Given the description of an element on the screen output the (x, y) to click on. 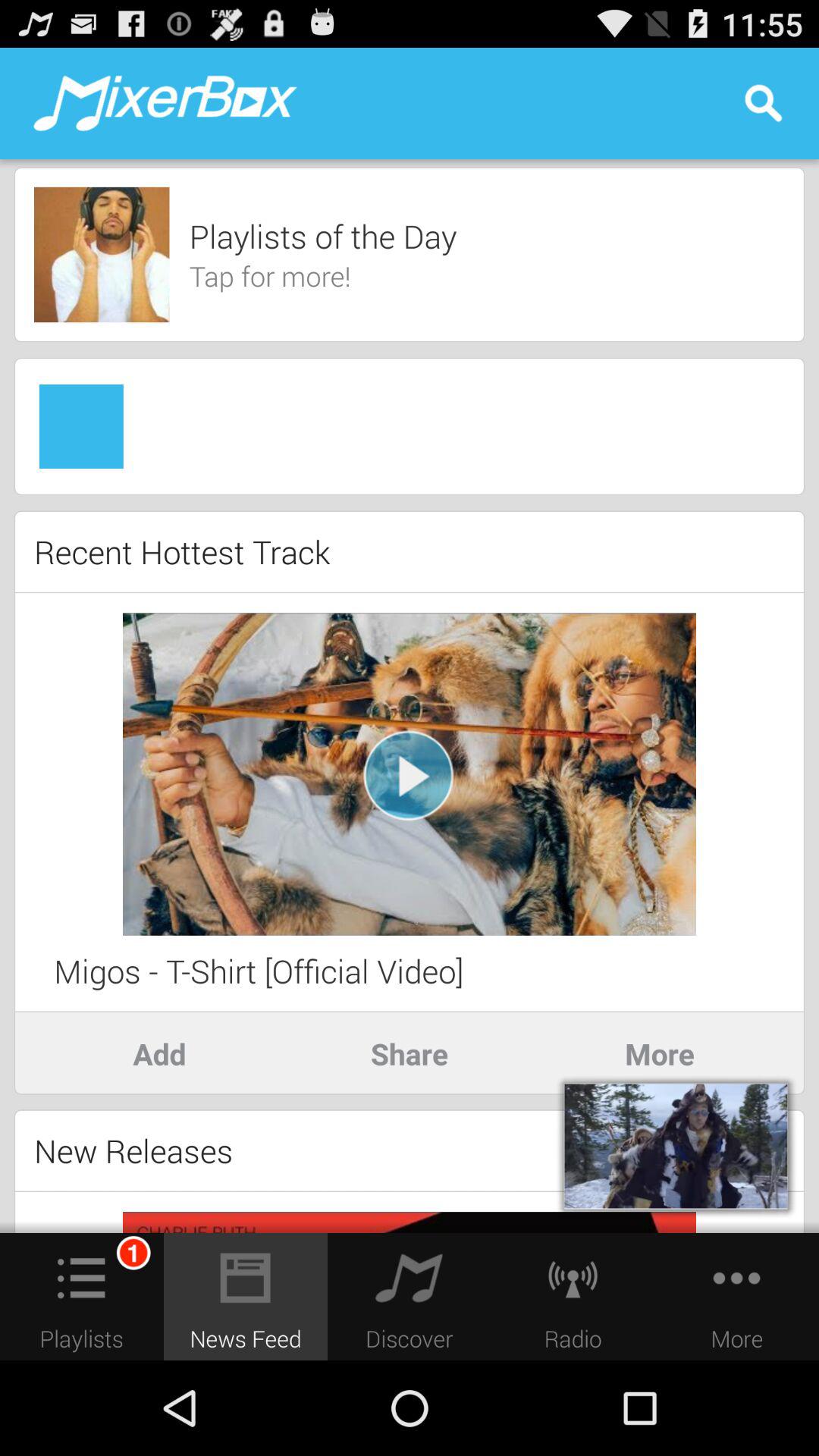
launch the icon below the migos t shirt (159, 1053)
